Given the description of an element on the screen output the (x, y) to click on. 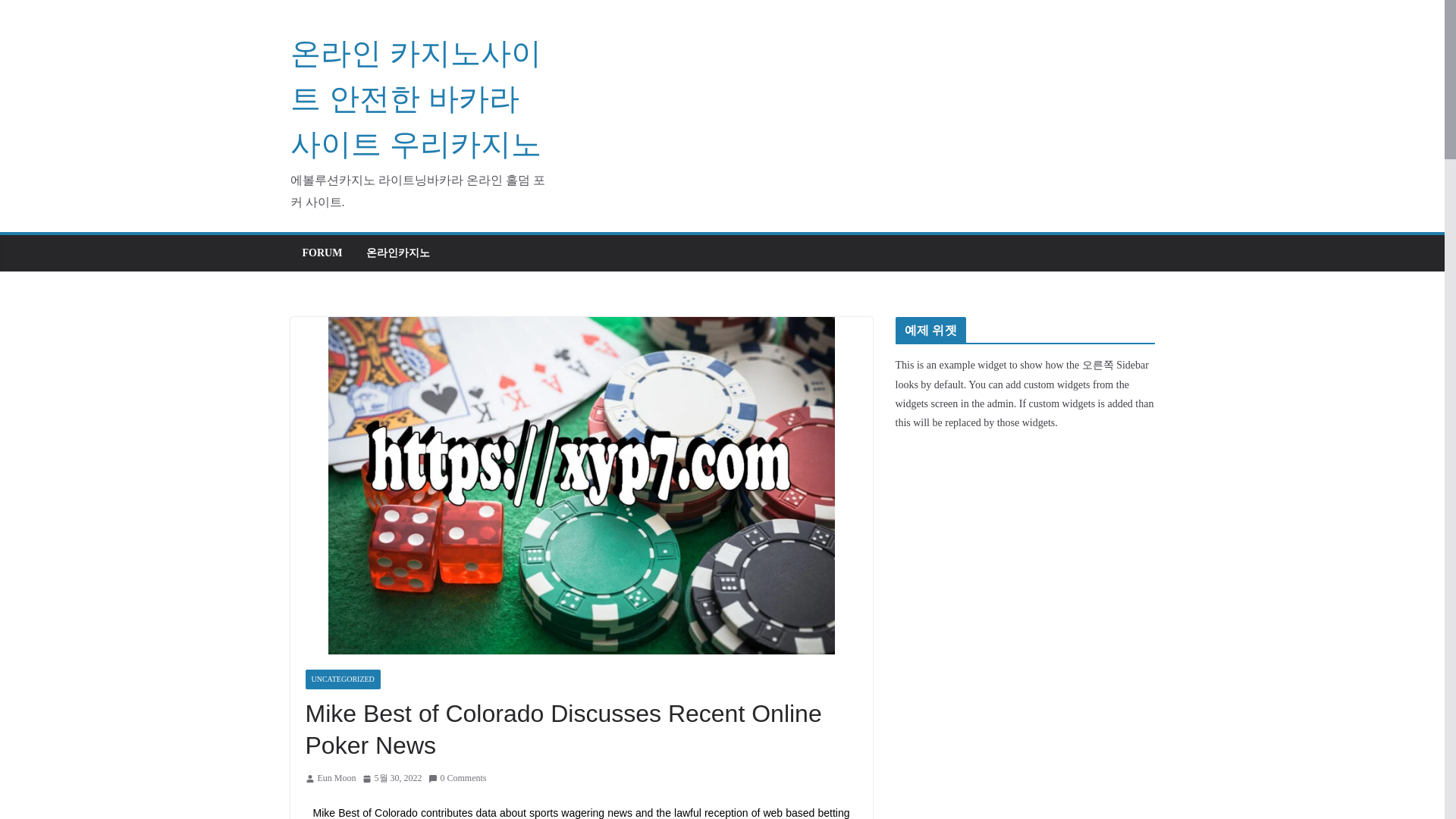
Eun Moon (336, 778)
0 Comments (457, 778)
Eun Moon (336, 778)
FORUM (321, 252)
UNCATEGORIZED (342, 679)
